Given the description of an element on the screen output the (x, y) to click on. 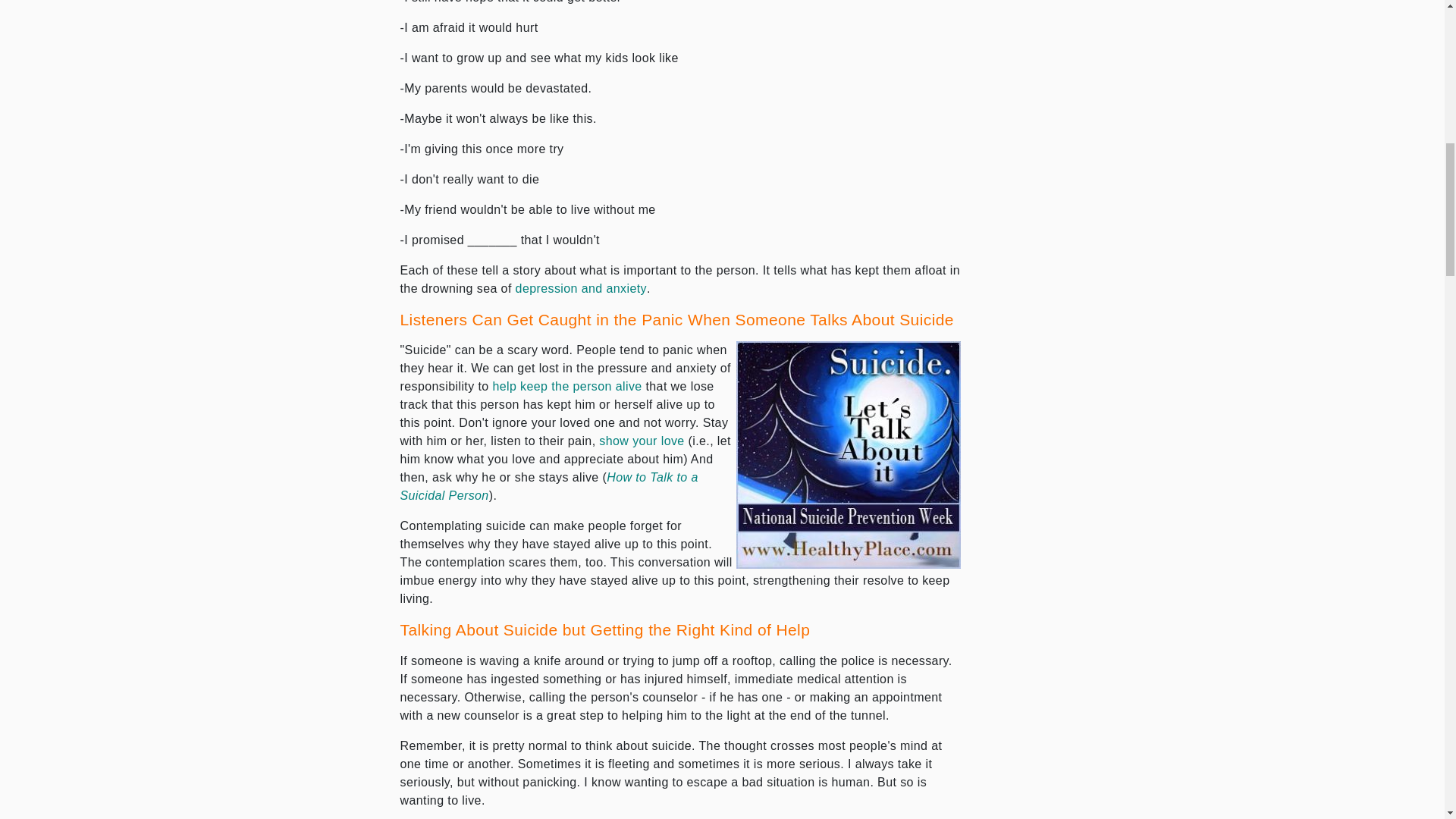
National Suicide Prevention Week (848, 454)
Relationship Between Depression and Anxiety (580, 287)
